Given the description of an element on the screen output the (x, y) to click on. 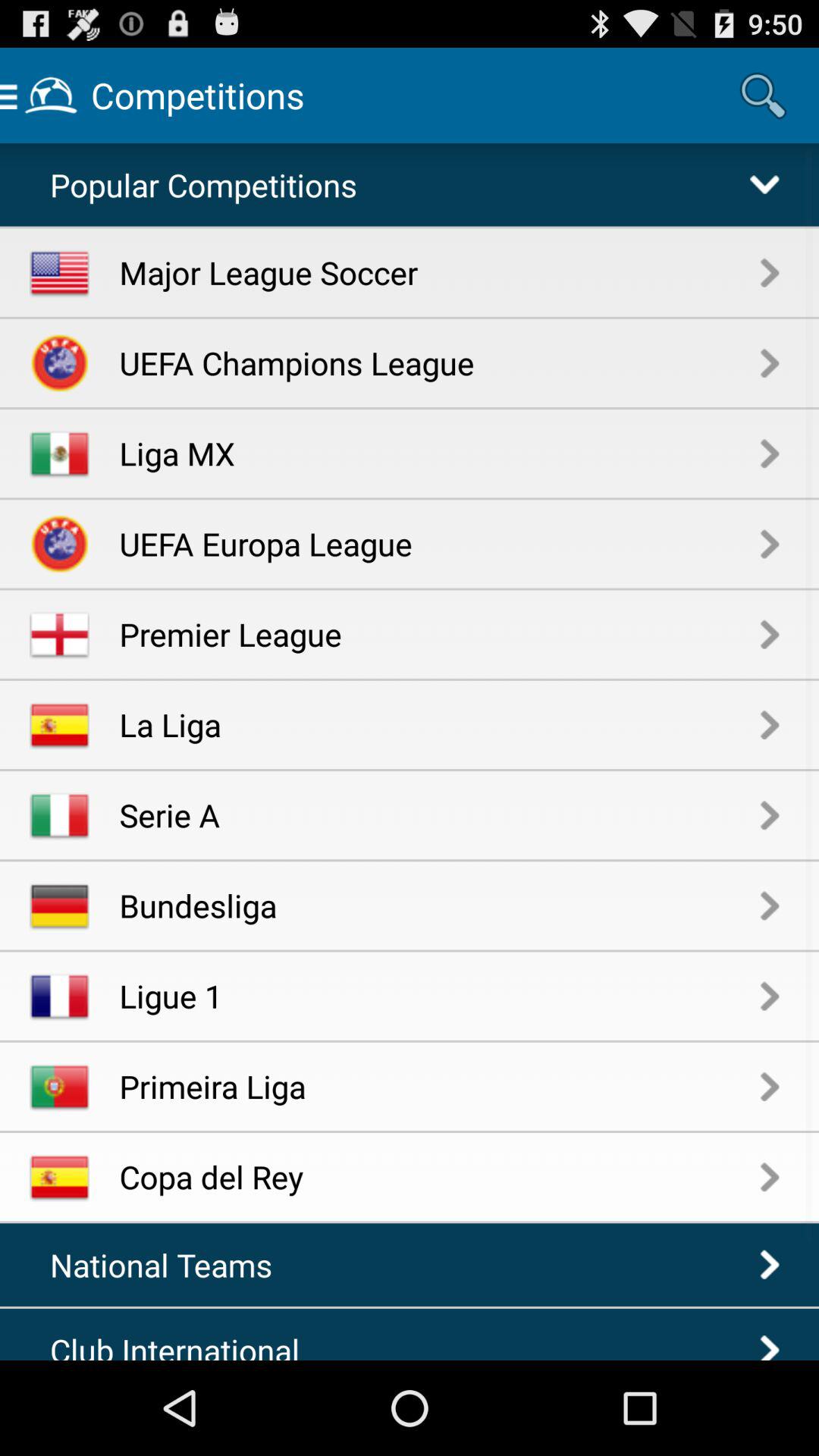
jump until bundesliga (439, 905)
